Given the description of an element on the screen output the (x, y) to click on. 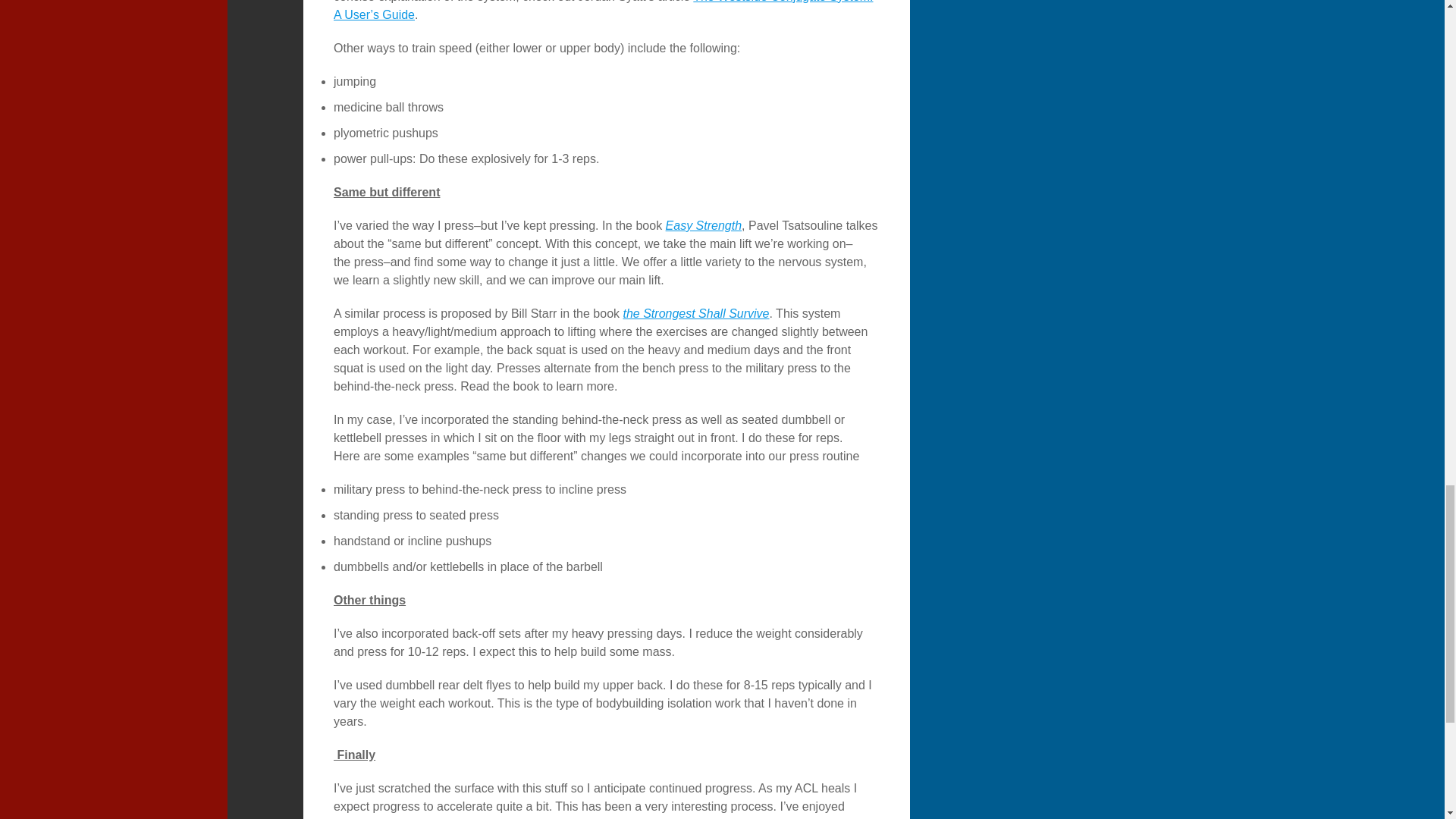
Easy Strength (703, 225)
the Strongest Shall Survive (696, 313)
